Given the description of an element on the screen output the (x, y) to click on. 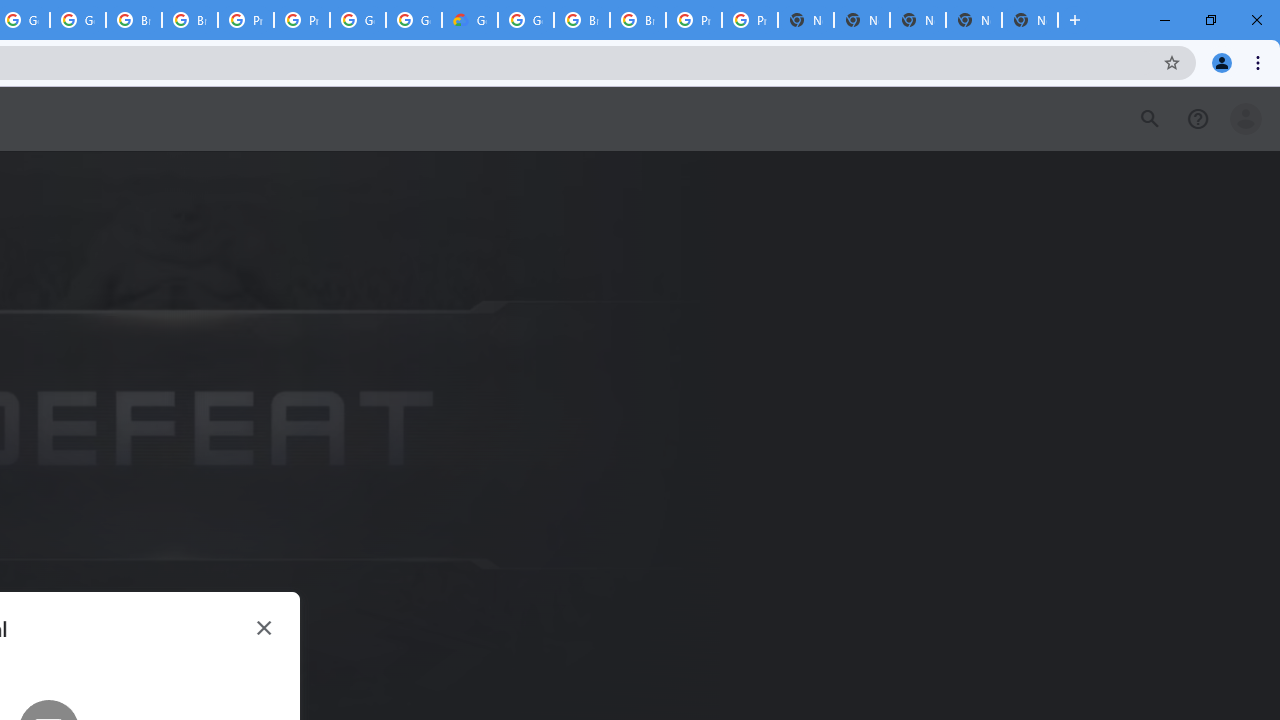
Browse Chrome as a guest - Computer - Google Chrome Help (134, 20)
New Tab (1030, 20)
Google Cloud Estimate Summary (469, 20)
Google Cloud Platform (525, 20)
Browse Chrome as a guest - Computer - Google Chrome Help (582, 20)
